Given the description of an element on the screen output the (x, y) to click on. 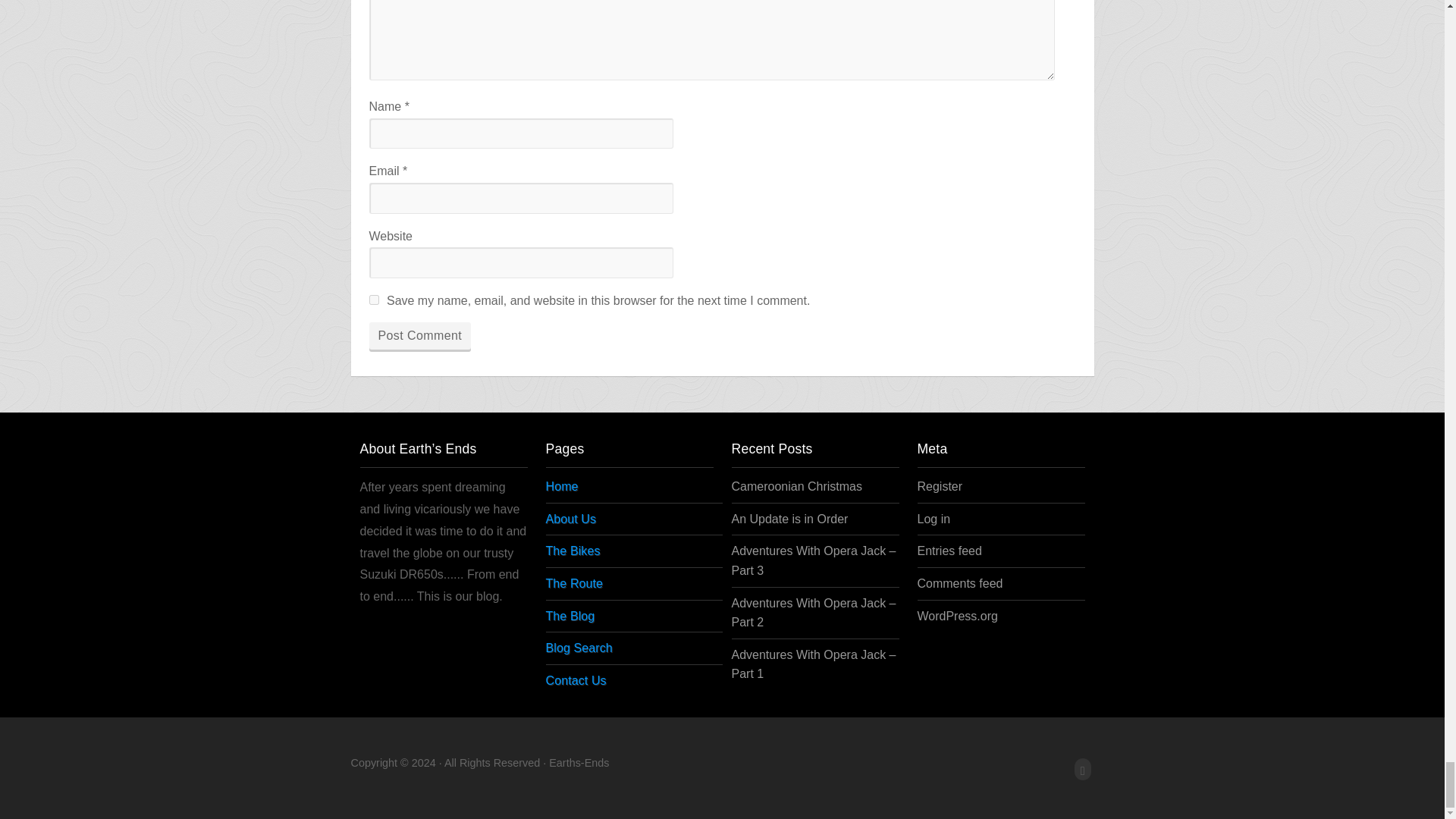
Post Comment (419, 335)
The Blog (883, 616)
Cameroonian Christmas (795, 486)
Post Comment (419, 335)
Register (939, 486)
Contact Us (883, 678)
Blog Search (883, 648)
The Route (883, 583)
An Update is in Order (788, 518)
The Bikes (883, 551)
About Us (883, 519)
yes (373, 299)
Home (883, 489)
Log in (933, 518)
